Given the description of an element on the screen output the (x, y) to click on. 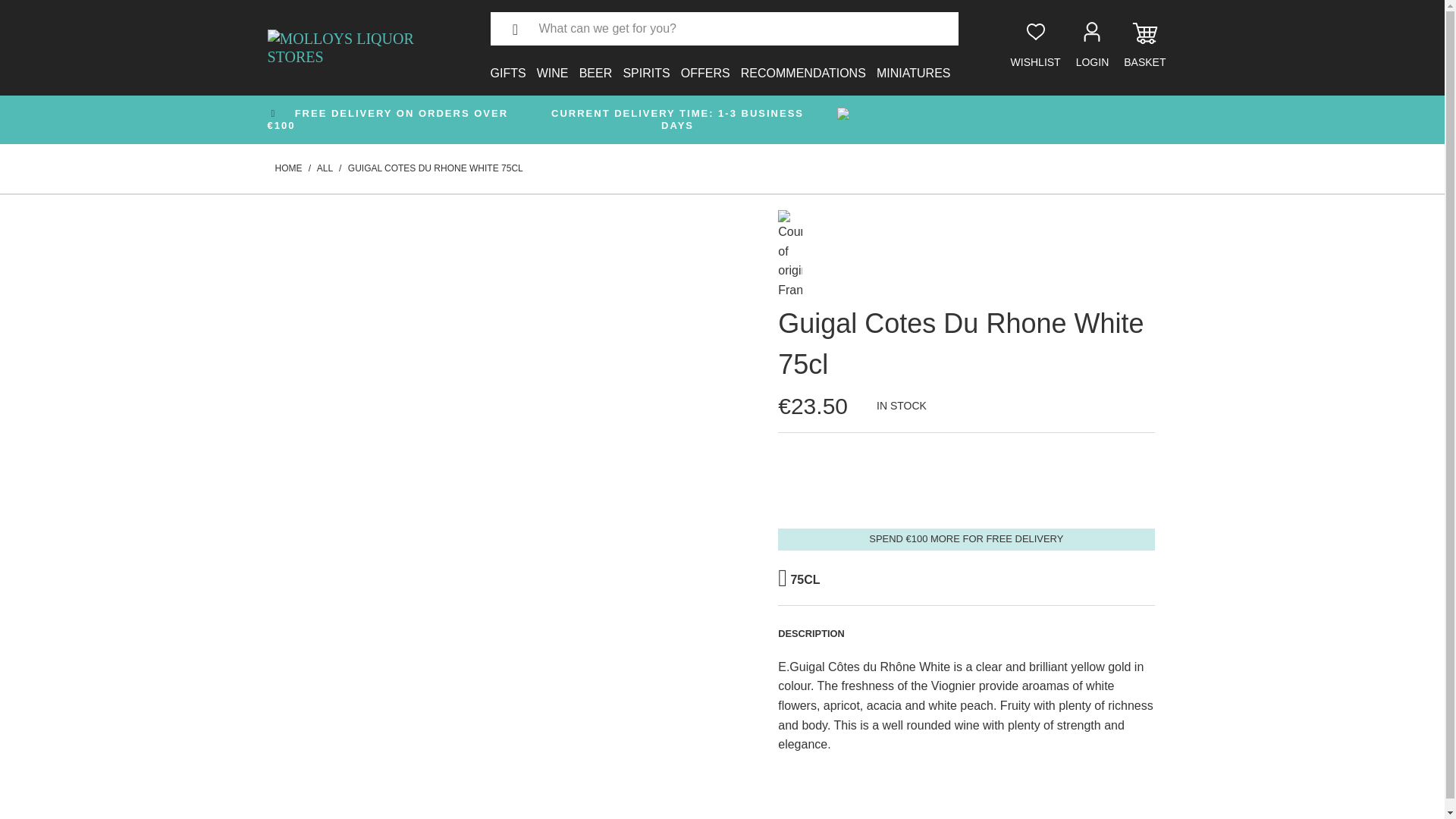
RECOMMENDATIONS (803, 64)
SPIRITS (646, 64)
All (325, 167)
Molloys Liquor Stores (288, 167)
OFFERS (705, 64)
GIFTS (507, 64)
MINIATURES (913, 64)
